Given the description of an element on the screen output the (x, y) to click on. 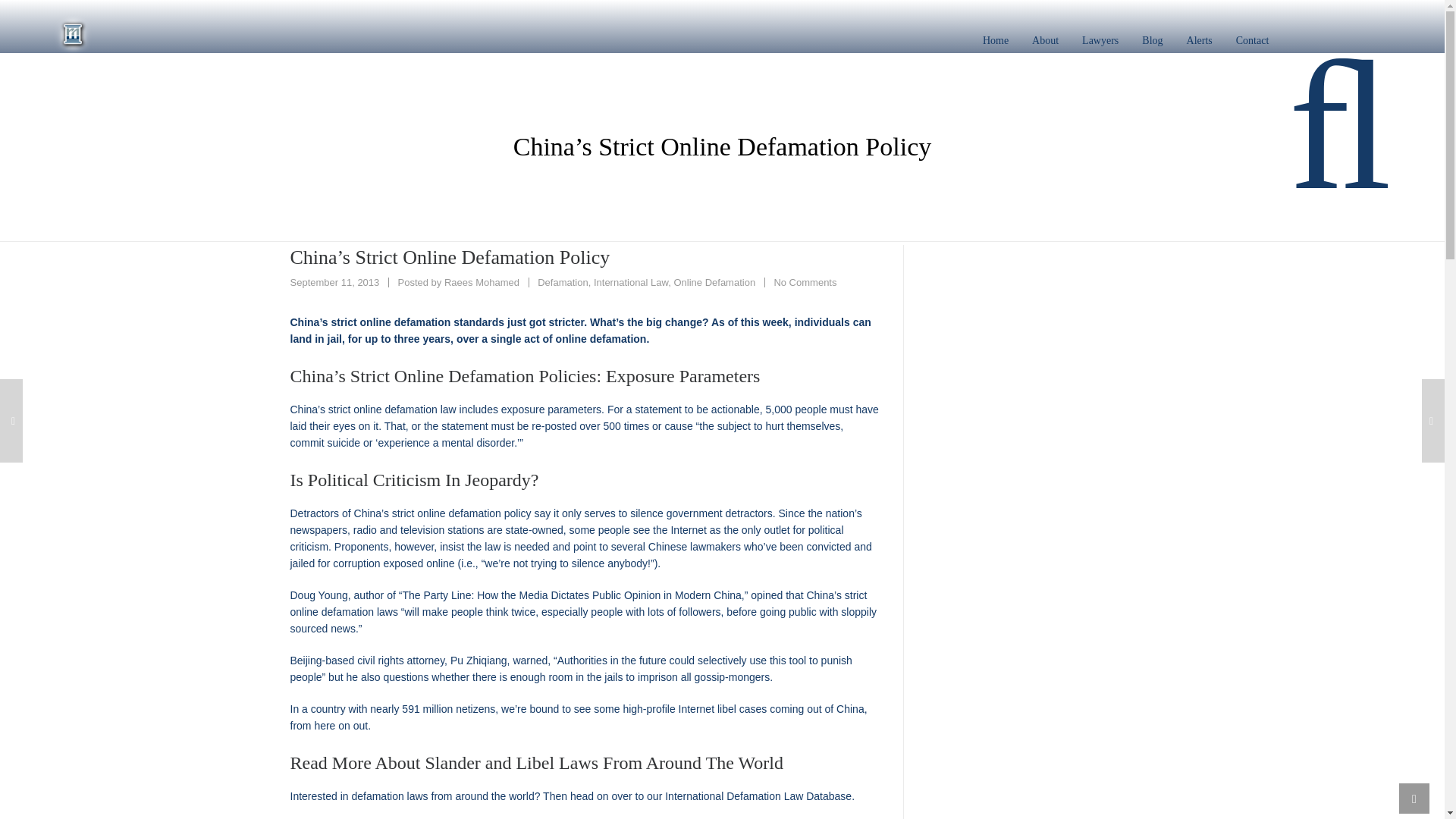
Lawyers (1099, 40)
stricter (565, 322)
About (1045, 40)
Defamation (562, 282)
No Comments (804, 282)
Posts by Raees Mohamed (481, 282)
International Law (631, 282)
Contact (1252, 40)
Raees Mohamed (481, 282)
Blog (1152, 40)
Home (995, 40)
Online Defamation (713, 282)
No Comments (804, 282)
International Defamation Law Database. (759, 796)
Alerts (1199, 40)
